Given the description of an element on the screen output the (x, y) to click on. 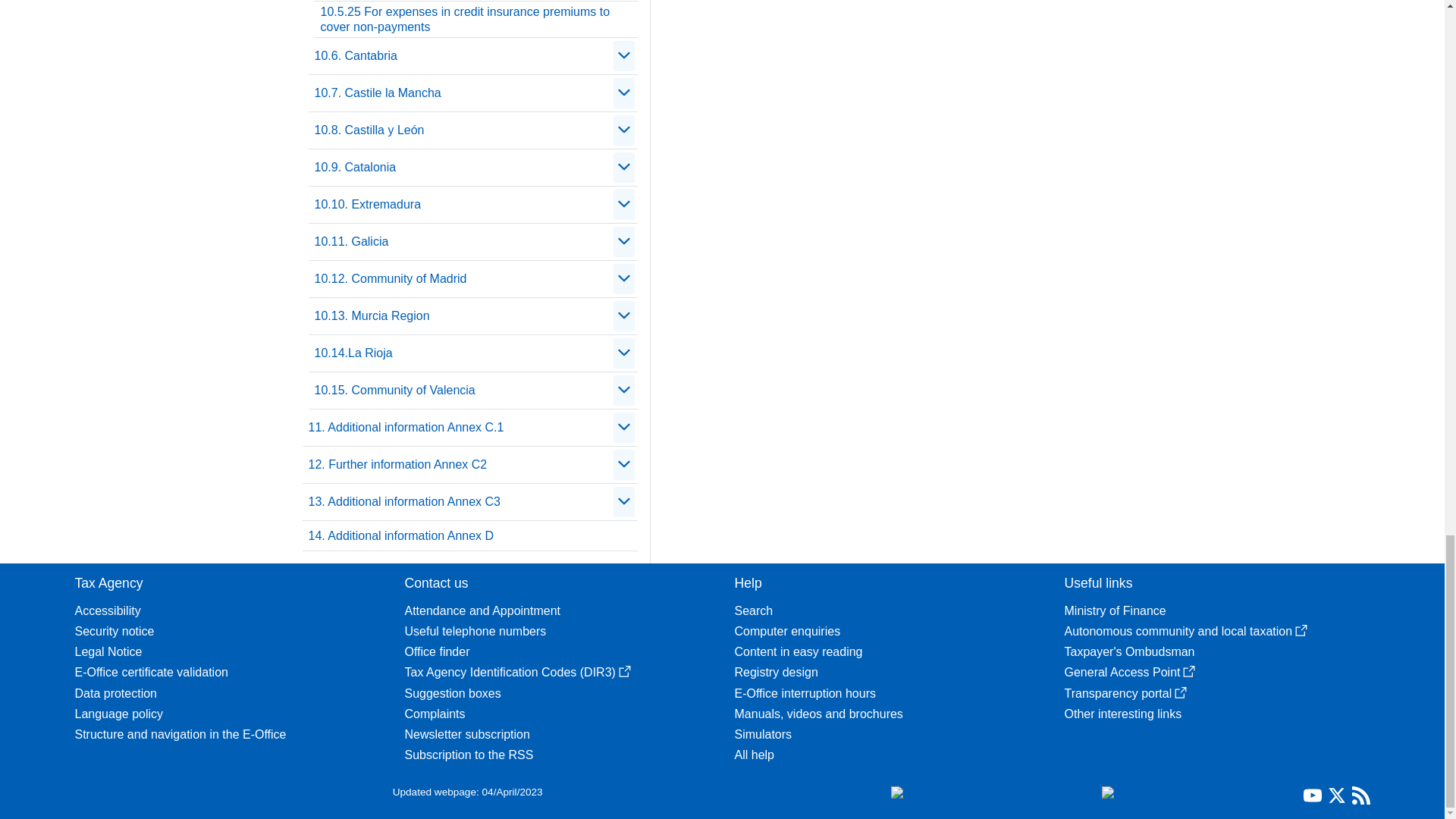
Opens in a new window (624, 671)
Opens in a new window (1301, 630)
Regional and local taxation, opens in a new window (1217, 631)
